Given the description of an element on the screen output the (x, y) to click on. 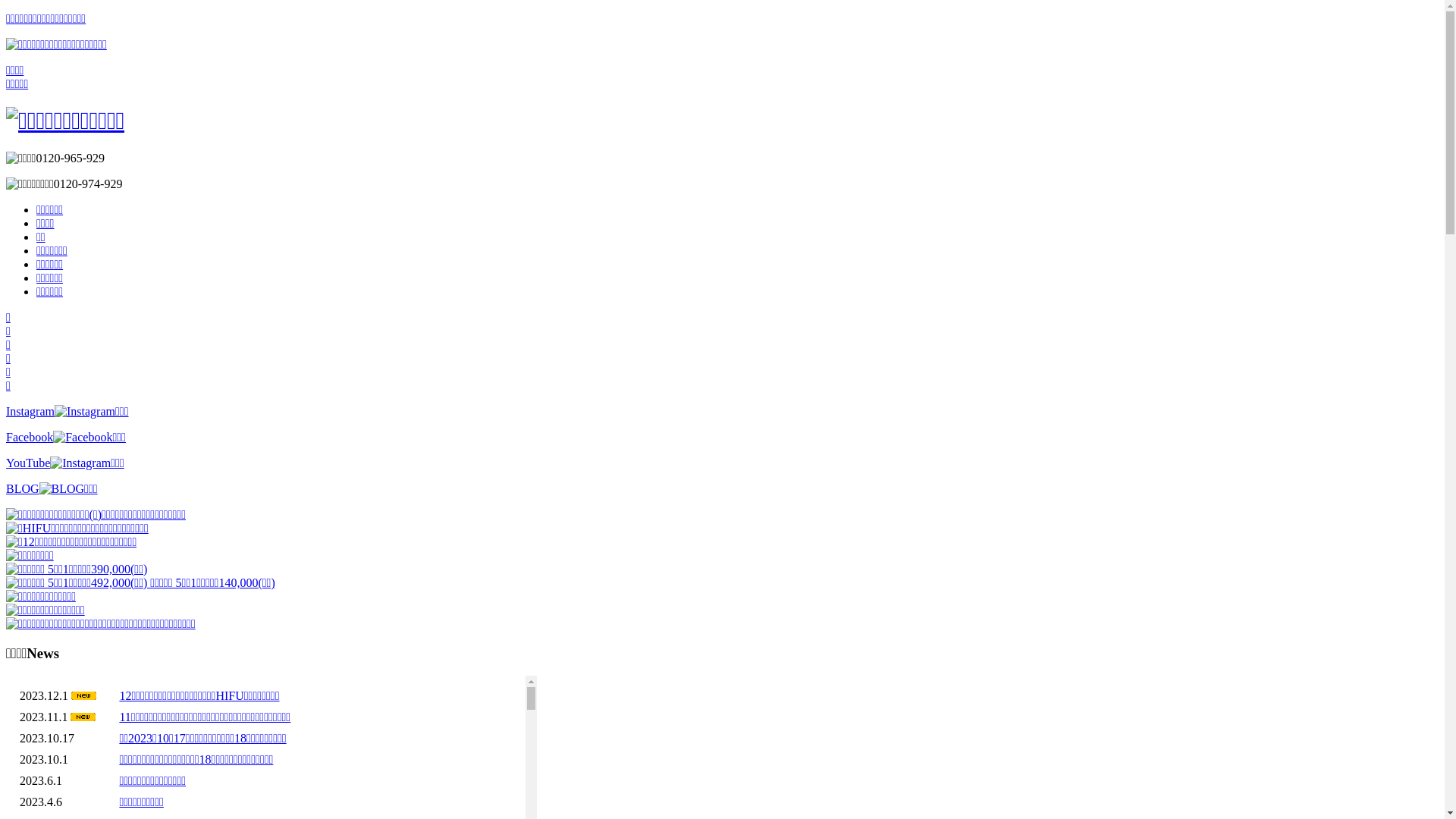
Facebook Element type: text (65, 436)
Instagram Element type: text (67, 410)
BLOG Element type: text (51, 488)
YouTube Element type: text (65, 462)
